Given the description of an element on the screen output the (x, y) to click on. 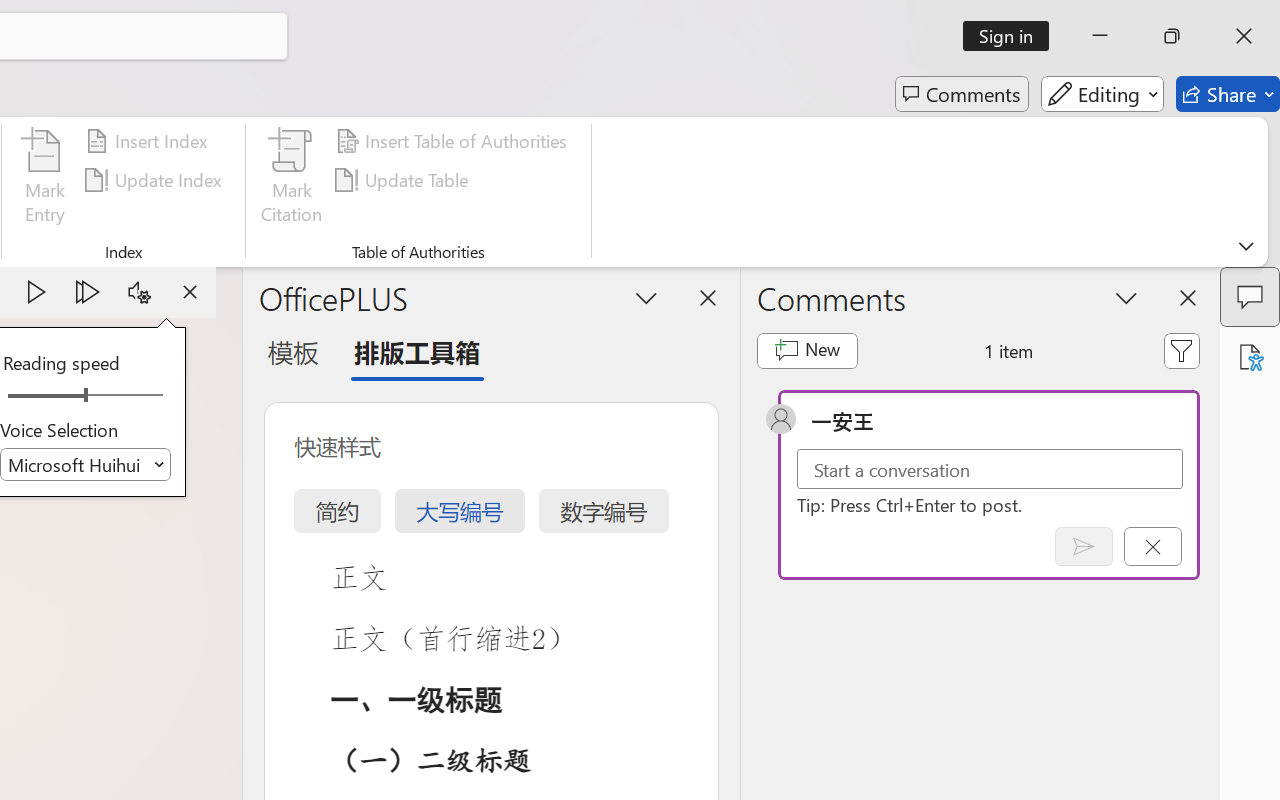
Insert Index... (149, 141)
Settings (139, 292)
Page left (40, 395)
Reading speed (85, 396)
Update Index (156, 179)
Post comment (Ctrl + Enter) (1083, 546)
Accessibility Assistant (1249, 357)
